Given the description of an element on the screen output the (x, y) to click on. 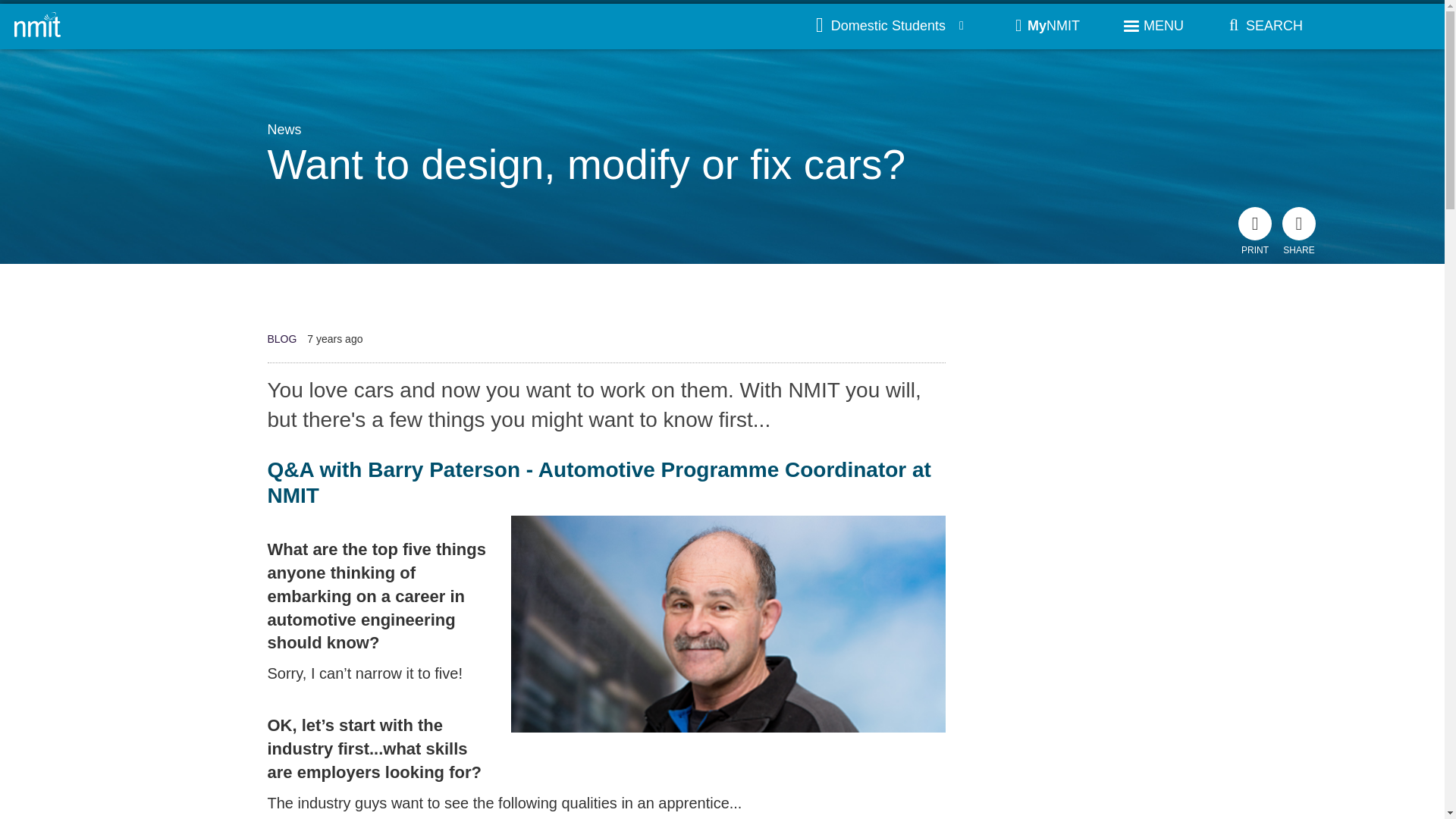
NMIT - link to home page (37, 26)
MENU (1152, 26)
SEARCH (1261, 26)
MyNMIT (1047, 26)
Domestic Students (889, 26)
